Given the description of an element on the screen output the (x, y) to click on. 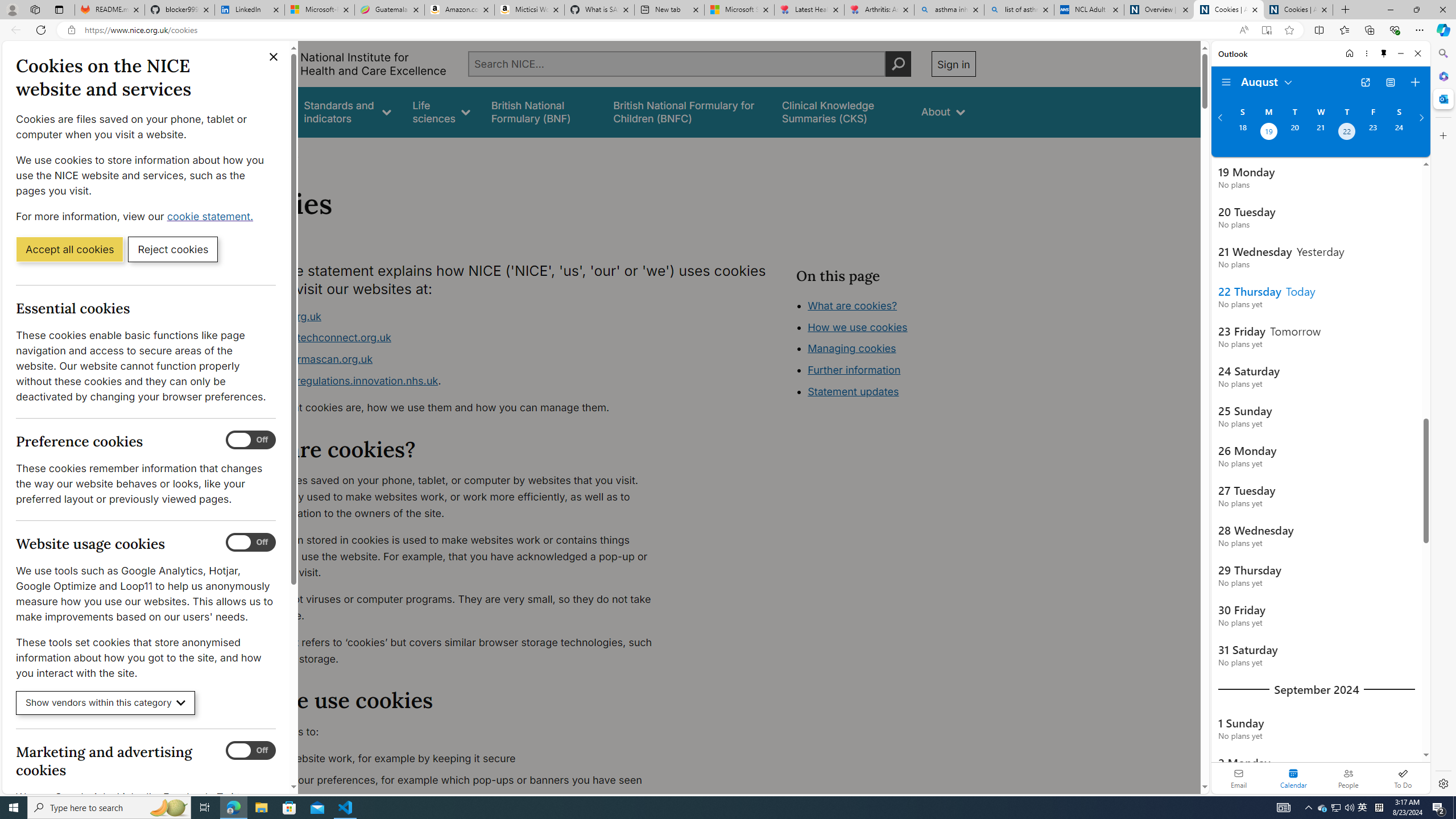
asthma inhaler - Search (949, 9)
Marketing and advertising cookies (250, 750)
www.digitalregulations.innovation.nhs.uk (338, 380)
Folder navigation (1225, 82)
People (1347, 777)
Statement updates (853, 391)
www.digitalregulations.innovation.nhs.uk. (452, 380)
Reject cookies (173, 248)
